Given the description of an element on the screen output the (x, y) to click on. 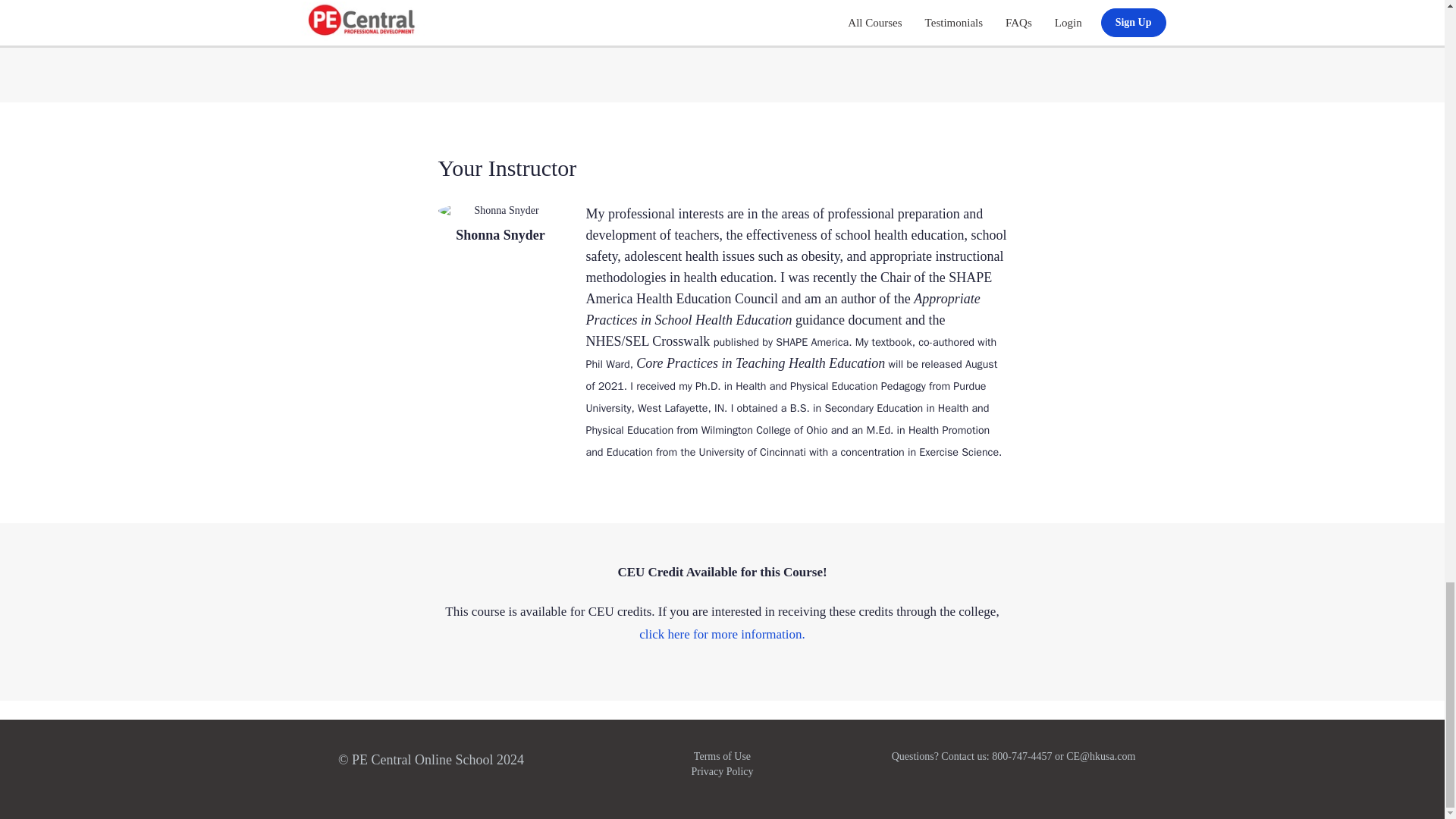
Privacy Policy (721, 771)
click here for more information. (722, 634)
Here! (901, 749)
Terms of Use (722, 756)
